Given the description of an element on the screen output the (x, y) to click on. 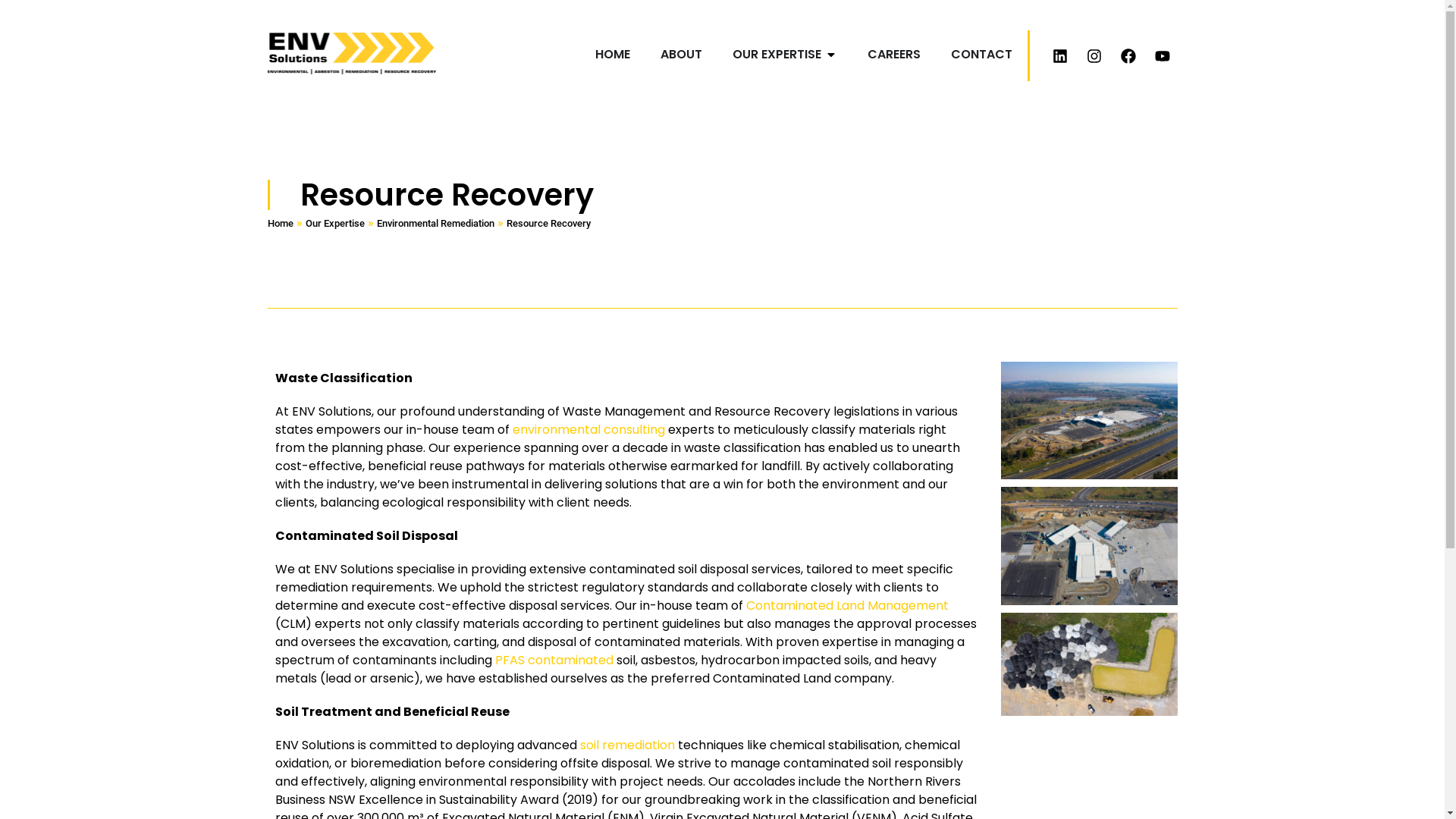
Environmental Remediation Element type: text (434, 223)
CAREERS Element type: text (893, 54)
Home Element type: text (279, 223)
PFAS contaminated Element type: text (553, 659)
CONTACT Element type: text (981, 54)
OUR EXPERTISE Element type: text (776, 54)
environmental consulting Element type: text (588, 429)
soil remediation Element type: text (626, 744)
HOME Element type: text (611, 54)
ABOUT Element type: text (680, 54)
Contaminated Land Management Element type: text (847, 605)
Our Expertise Element type: text (334, 223)
